Given the description of an element on the screen output the (x, y) to click on. 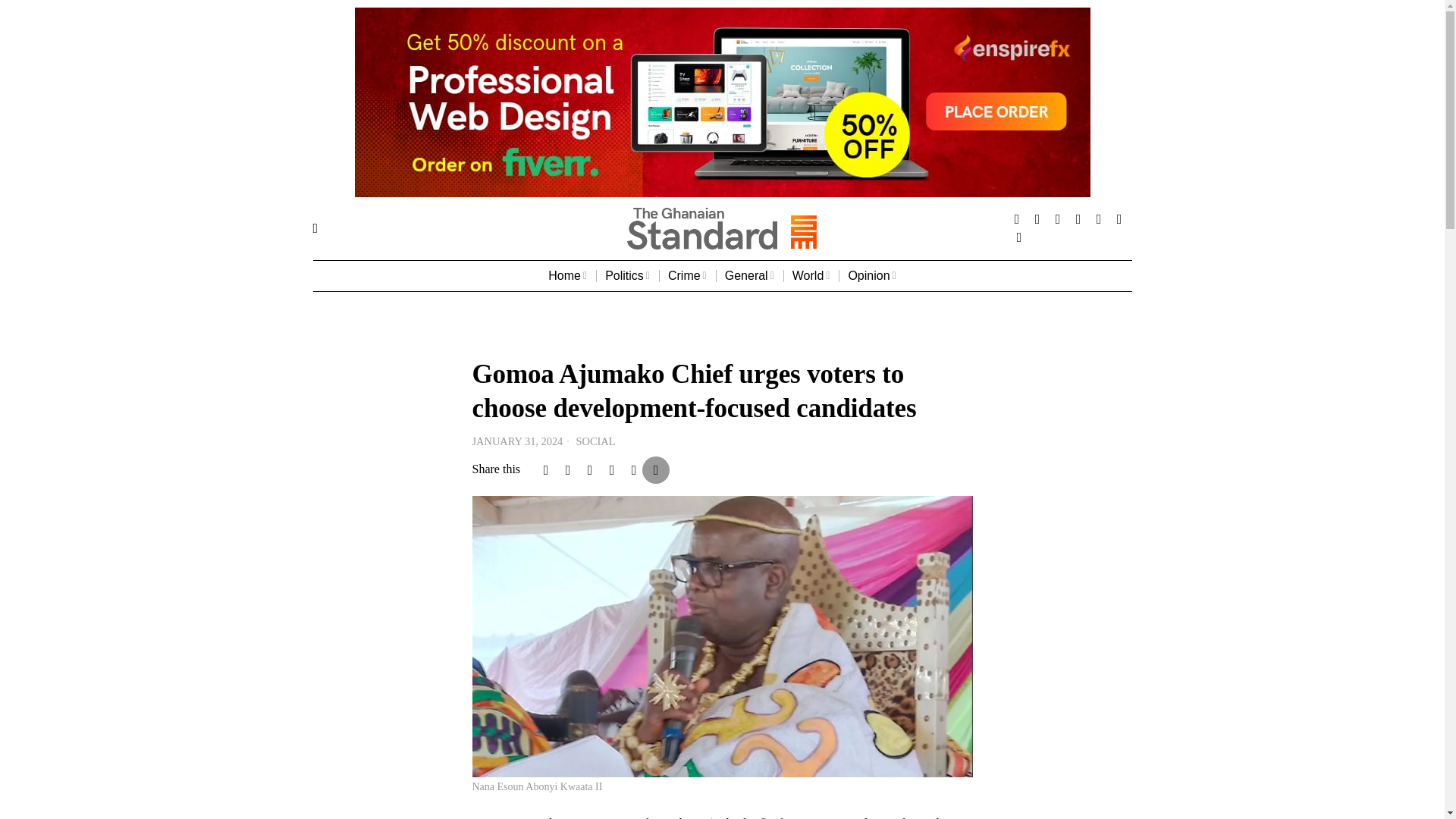
World (811, 276)
Politics (627, 276)
31 Jan, 2024 10:59:10 (516, 441)
General (749, 276)
Crime (687, 276)
Home (566, 276)
Opinion (871, 276)
